Given the description of an element on the screen output the (x, y) to click on. 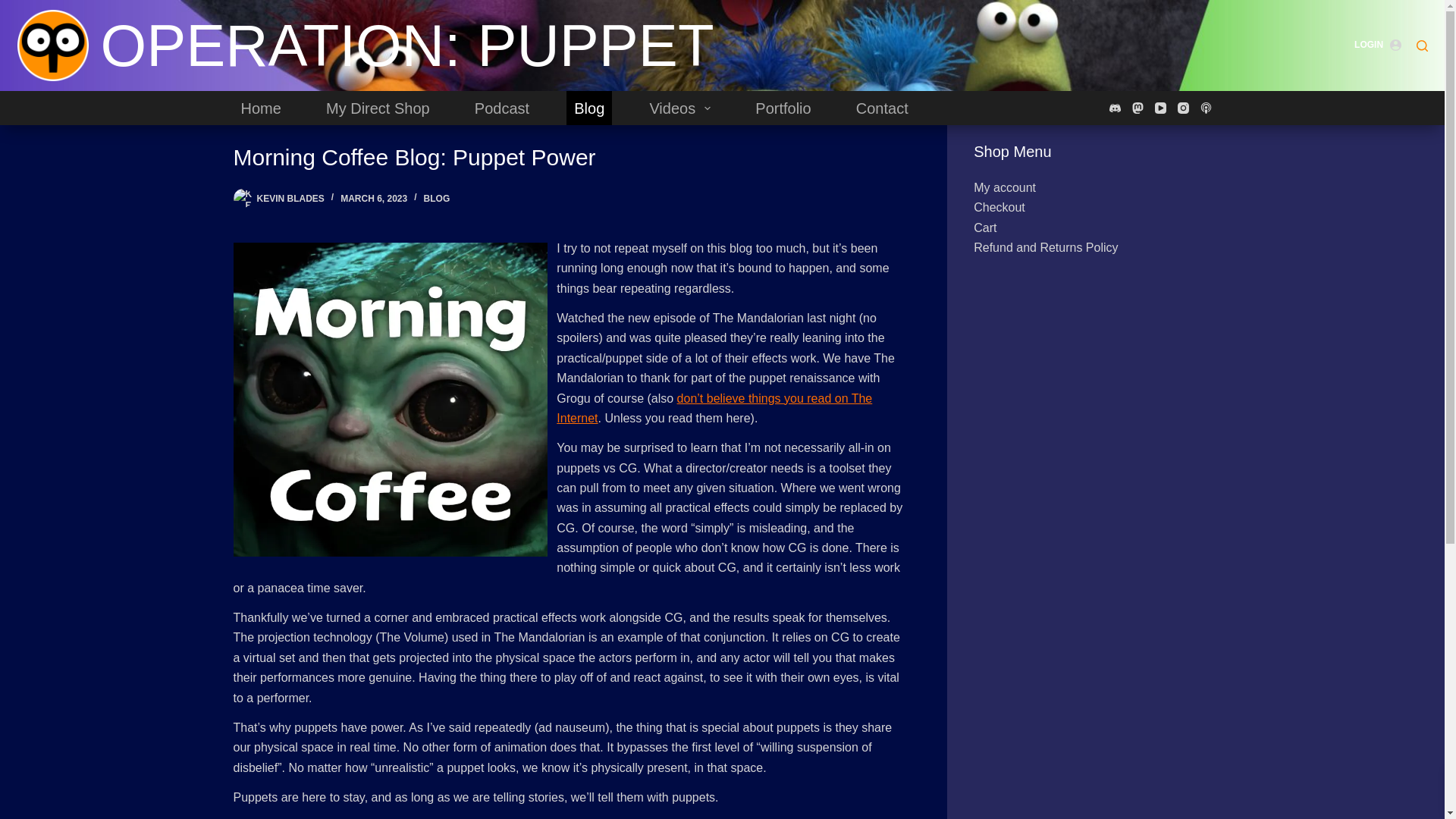
Home (260, 107)
Podcast (502, 107)
Portfolio (783, 107)
Morning Coffee Blog: Puppet Power (570, 157)
Posts by Kevin Blades (289, 198)
Blog (588, 107)
Skip to content (15, 7)
My Direct Shop (378, 107)
OPERATION: PUPPET (406, 45)
Videos (679, 107)
Contact (881, 107)
LOGIN (1377, 45)
